Given the description of an element on the screen output the (x, y) to click on. 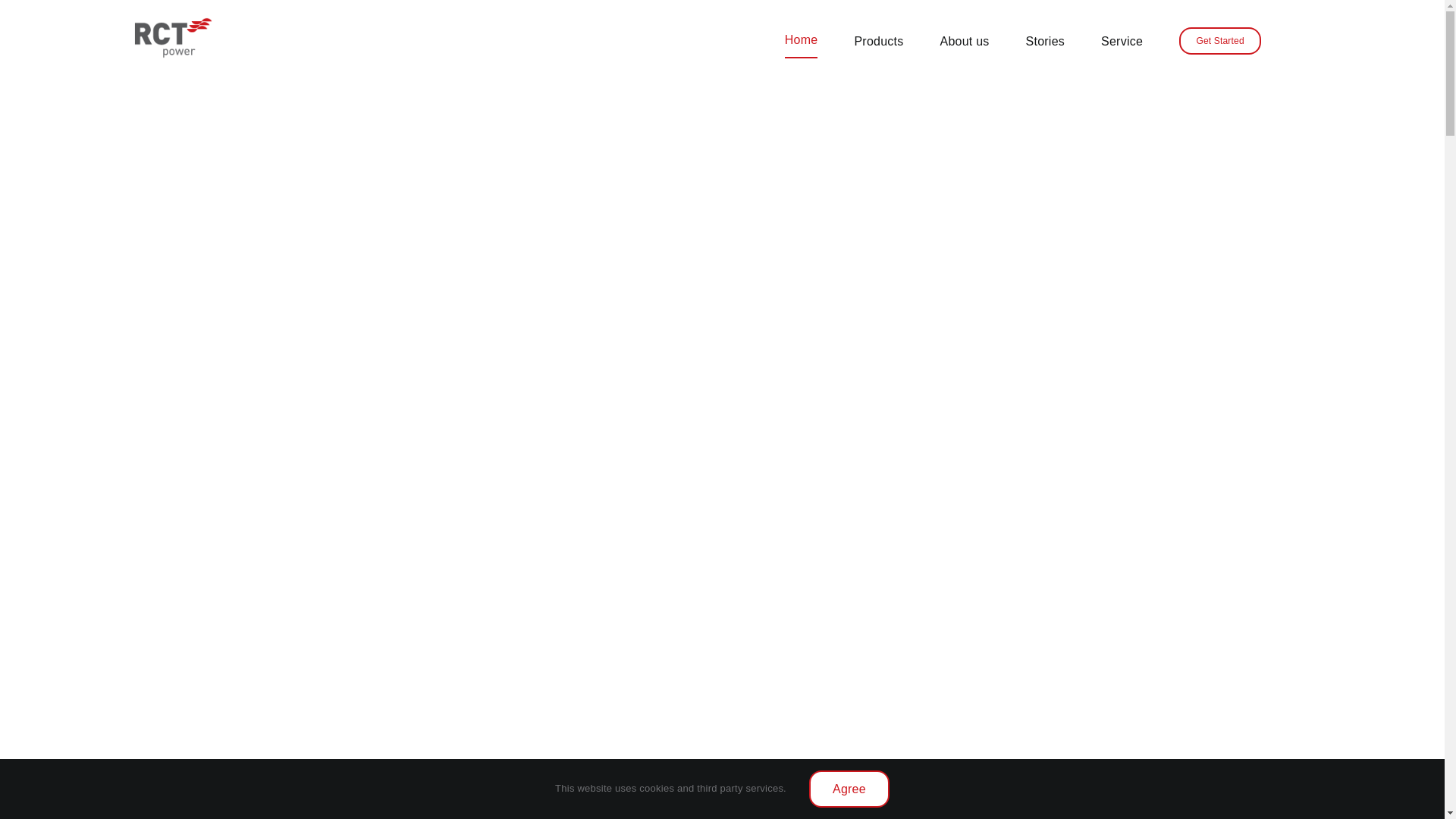
About us (963, 40)
Home (801, 40)
Get Started (1219, 40)
Products (877, 40)
Stories (1045, 40)
Service (1121, 40)
